Given the description of an element on the screen output the (x, y) to click on. 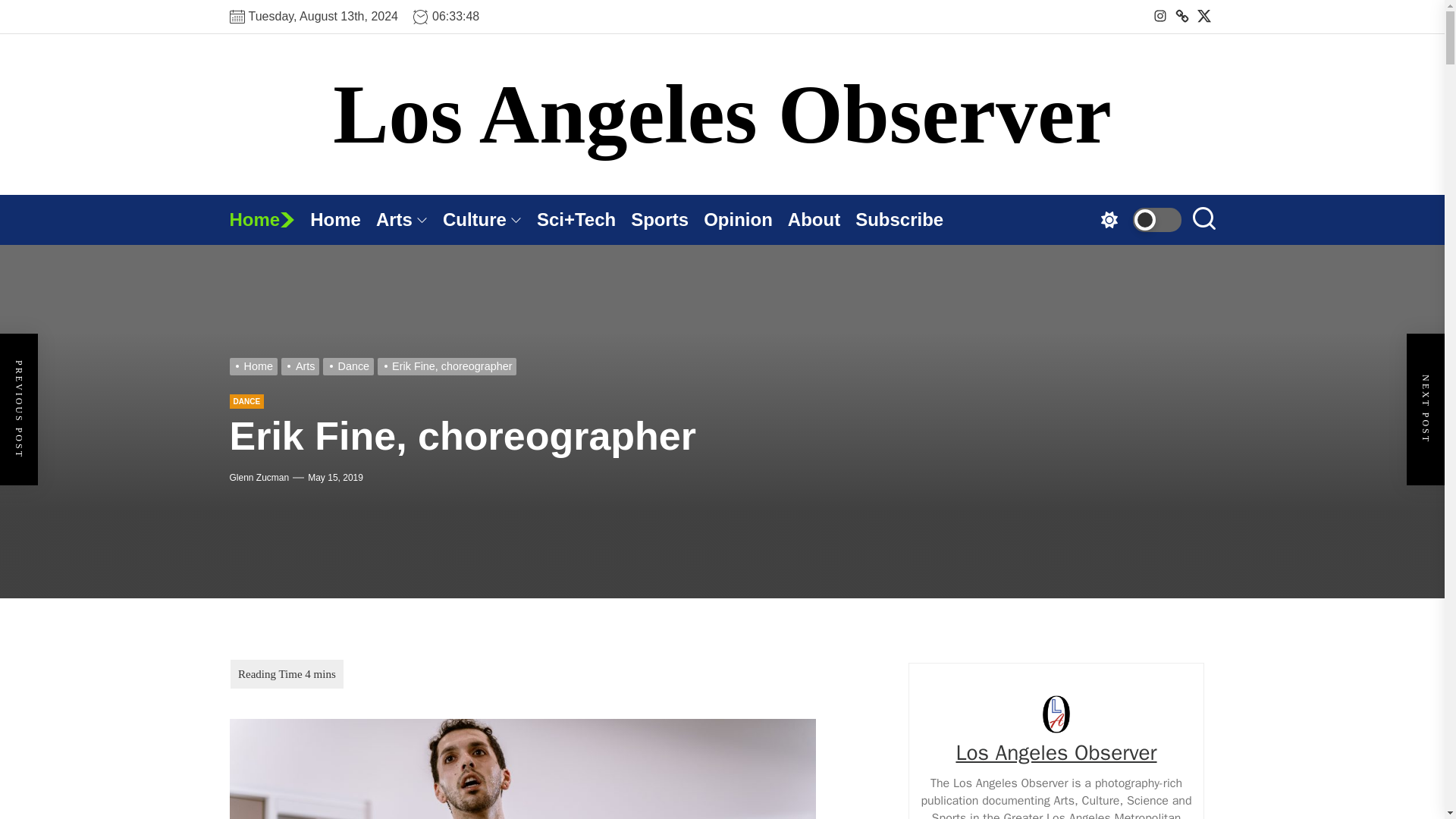
Home (269, 219)
Los Angeles Observer (722, 114)
Opinion (745, 219)
Cara (1182, 16)
Instagram (1160, 16)
Arts (408, 219)
Home (269, 219)
Home (342, 219)
X (1203, 16)
Culture (489, 219)
